Given the description of an element on the screen output the (x, y) to click on. 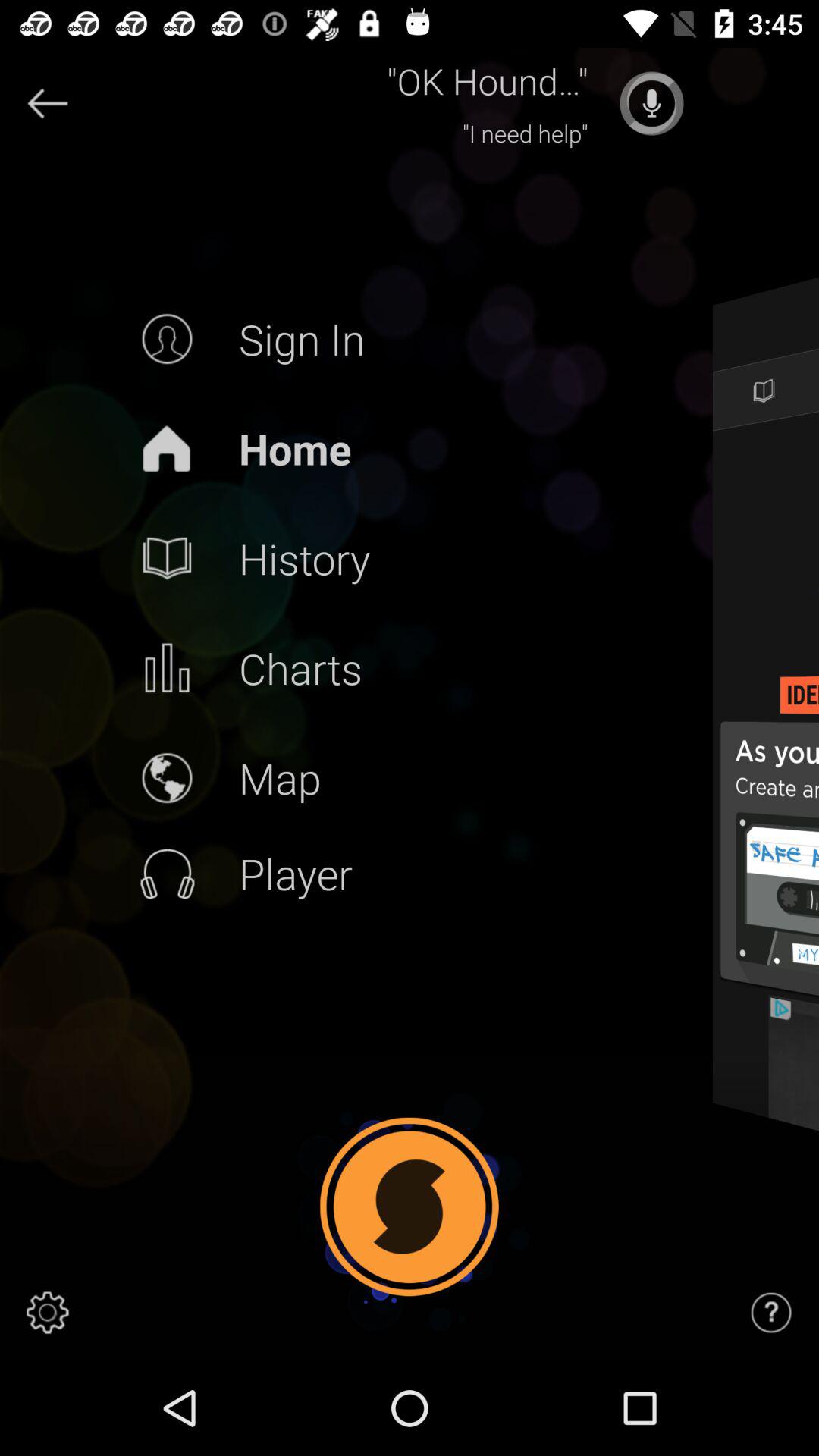
open help menu (771, 1312)
